Given the description of an element on the screen output the (x, y) to click on. 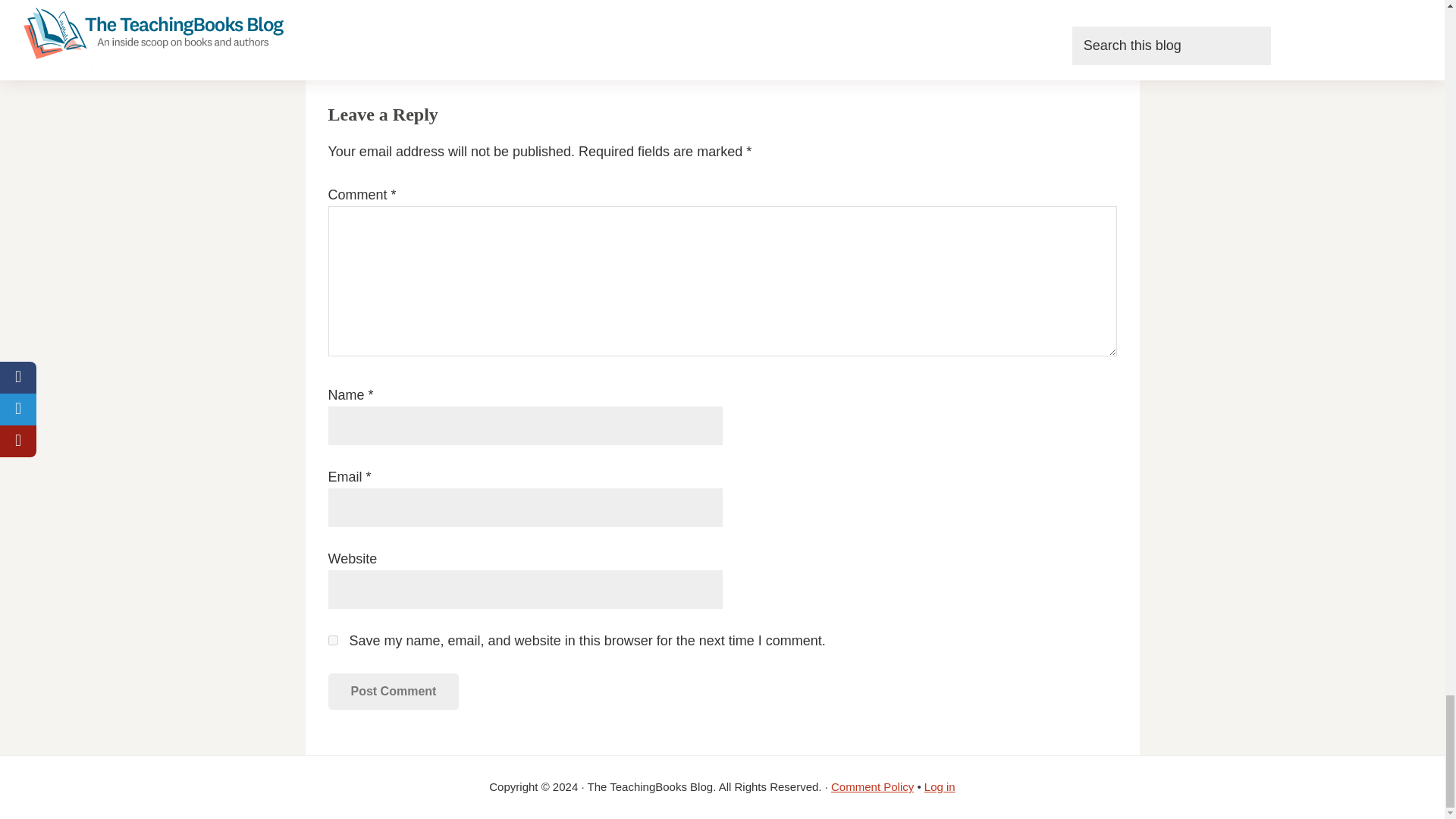
Log in (939, 786)
yes (332, 640)
Comment Policy (872, 786)
Post Comment (392, 691)
Post Comment (392, 691)
